Given the description of an element on the screen output the (x, y) to click on. 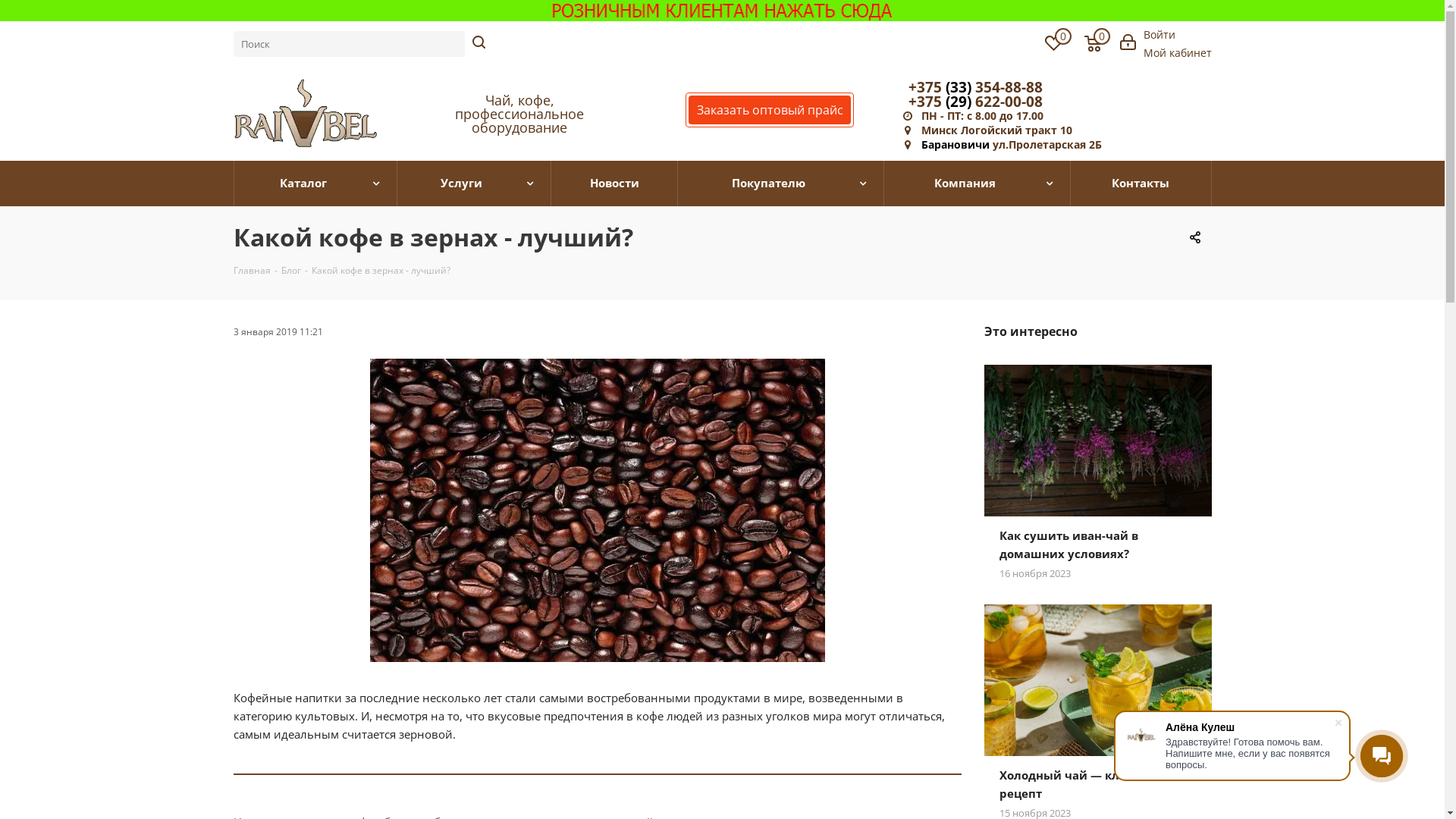
0 Element type: text (1053, 45)
0 Element type: text (1092, 45)
+375 (33) 354-88-88 Element type: text (975, 87)
+375 (29) 622-00-08 Element type: text (975, 101)
